Given the description of an element on the screen output the (x, y) to click on. 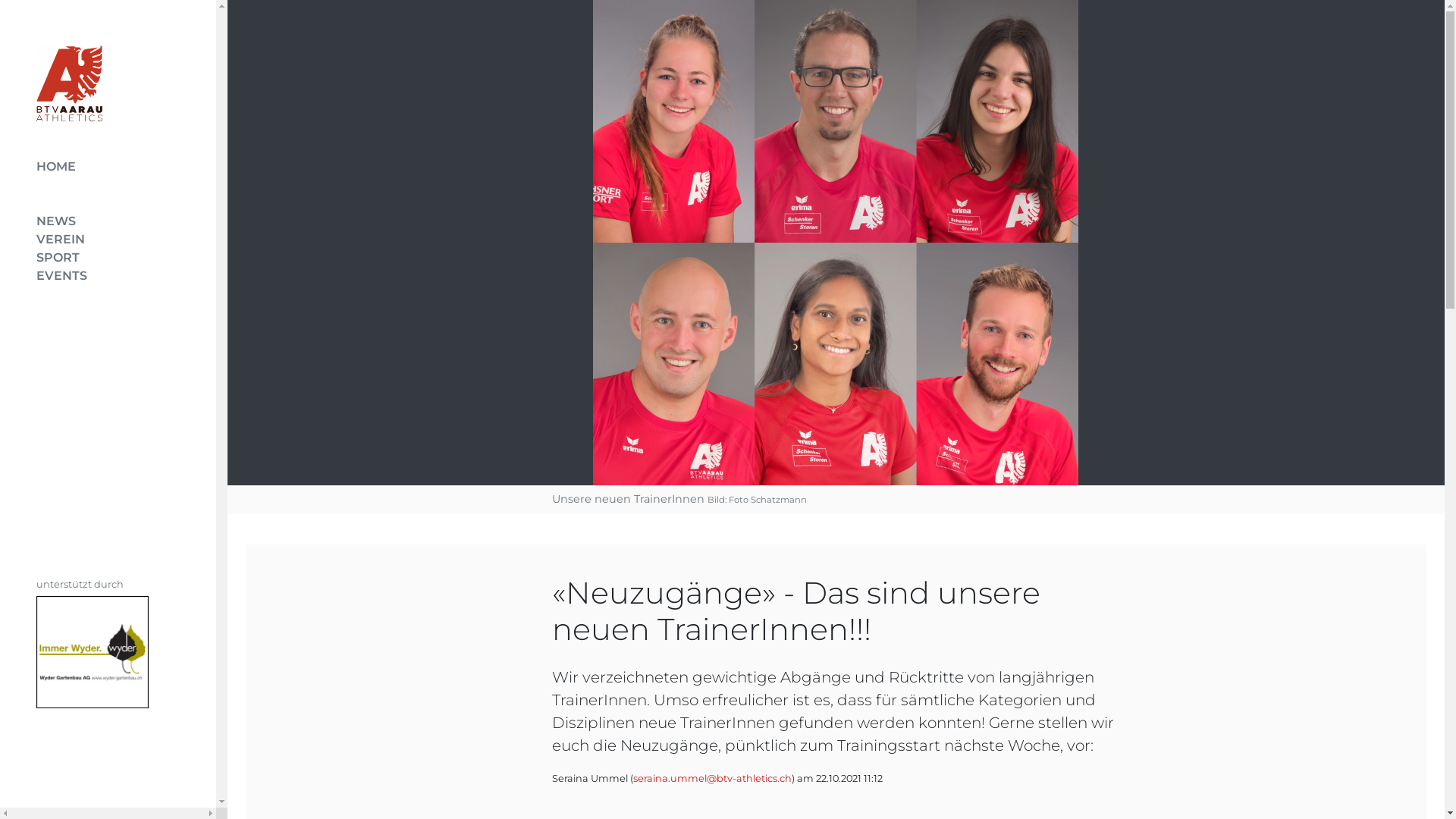
HOME Element type: text (120, 166)
EVENTS Element type: text (120, 275)
NEWS Element type: text (120, 221)
VEREIN Element type: text (120, 239)
seraina.ummel@btv-athletics.ch Element type: text (711, 778)
SPORT Element type: text (120, 257)
